Given the description of an element on the screen output the (x, y) to click on. 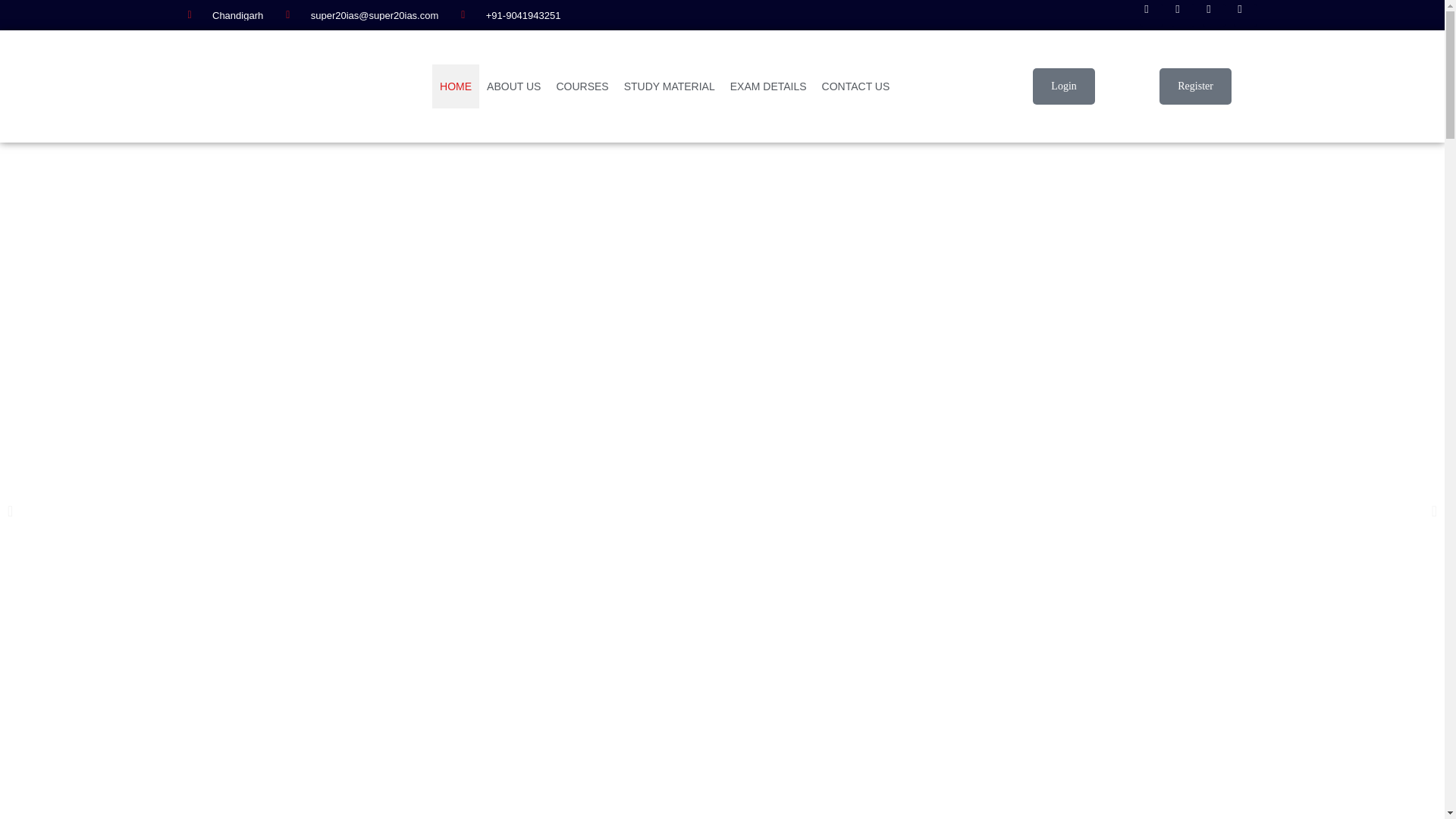
COURSES (581, 86)
Register (1194, 85)
CONTACT US (855, 86)
HOME (455, 86)
STUDY MATERIAL (668, 86)
ABOUT US (513, 86)
EXAM DETAILS (767, 86)
Login (1063, 85)
